Given the description of an element on the screen output the (x, y) to click on. 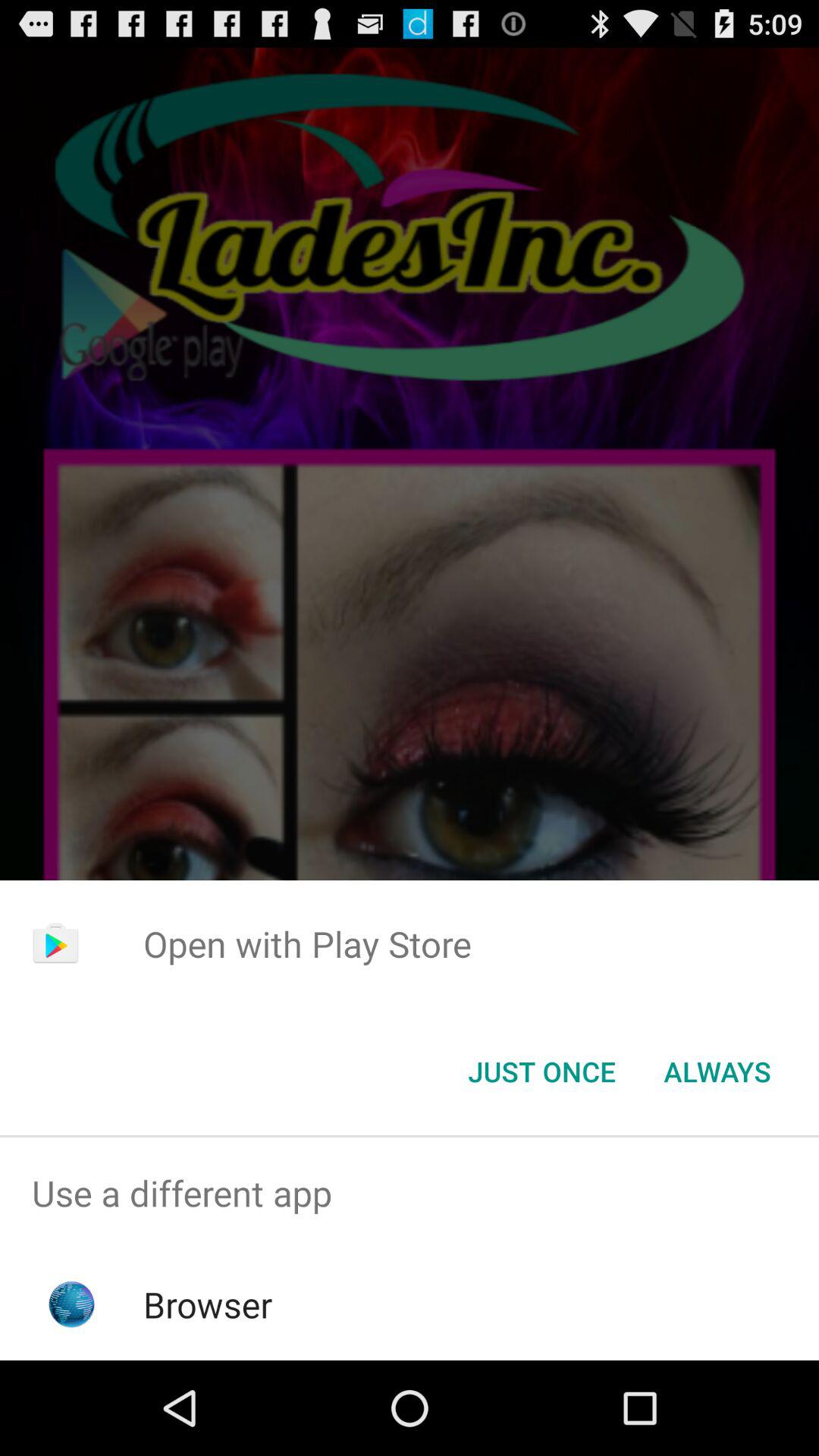
press the just once item (541, 1071)
